Given the description of an element on the screen output the (x, y) to click on. 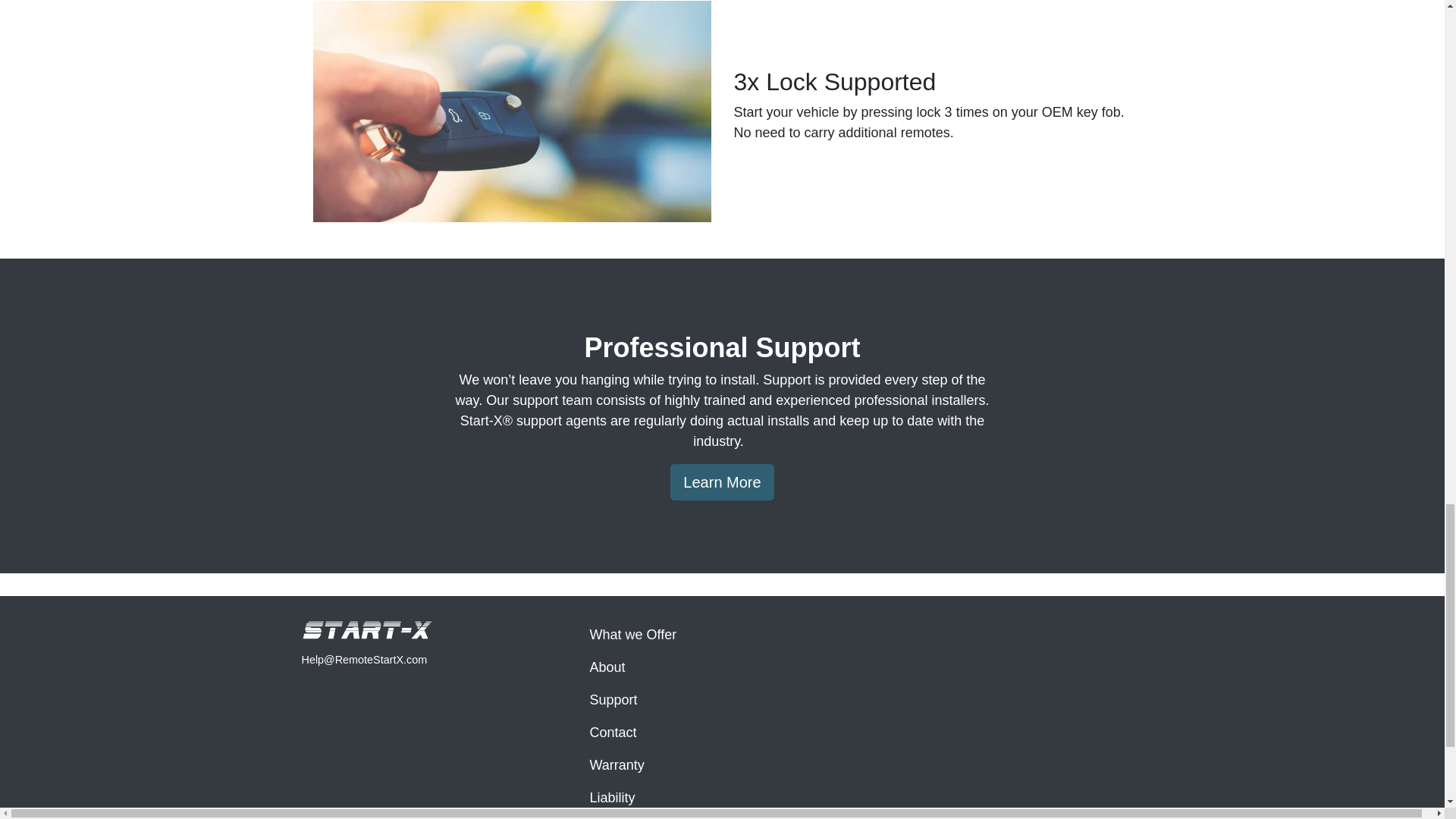
About (721, 667)
Liability (721, 798)
Warranty (721, 765)
Order Tracking (721, 816)
Warranty (721, 765)
What we Offer (721, 635)
About (721, 667)
Support (721, 699)
Contact (721, 732)
Order Tracking (721, 816)
Learn More (721, 482)
Contact (721, 732)
Support (721, 699)
What we Offer (721, 635)
Liability (721, 798)
